Given the description of an element on the screen output the (x, y) to click on. 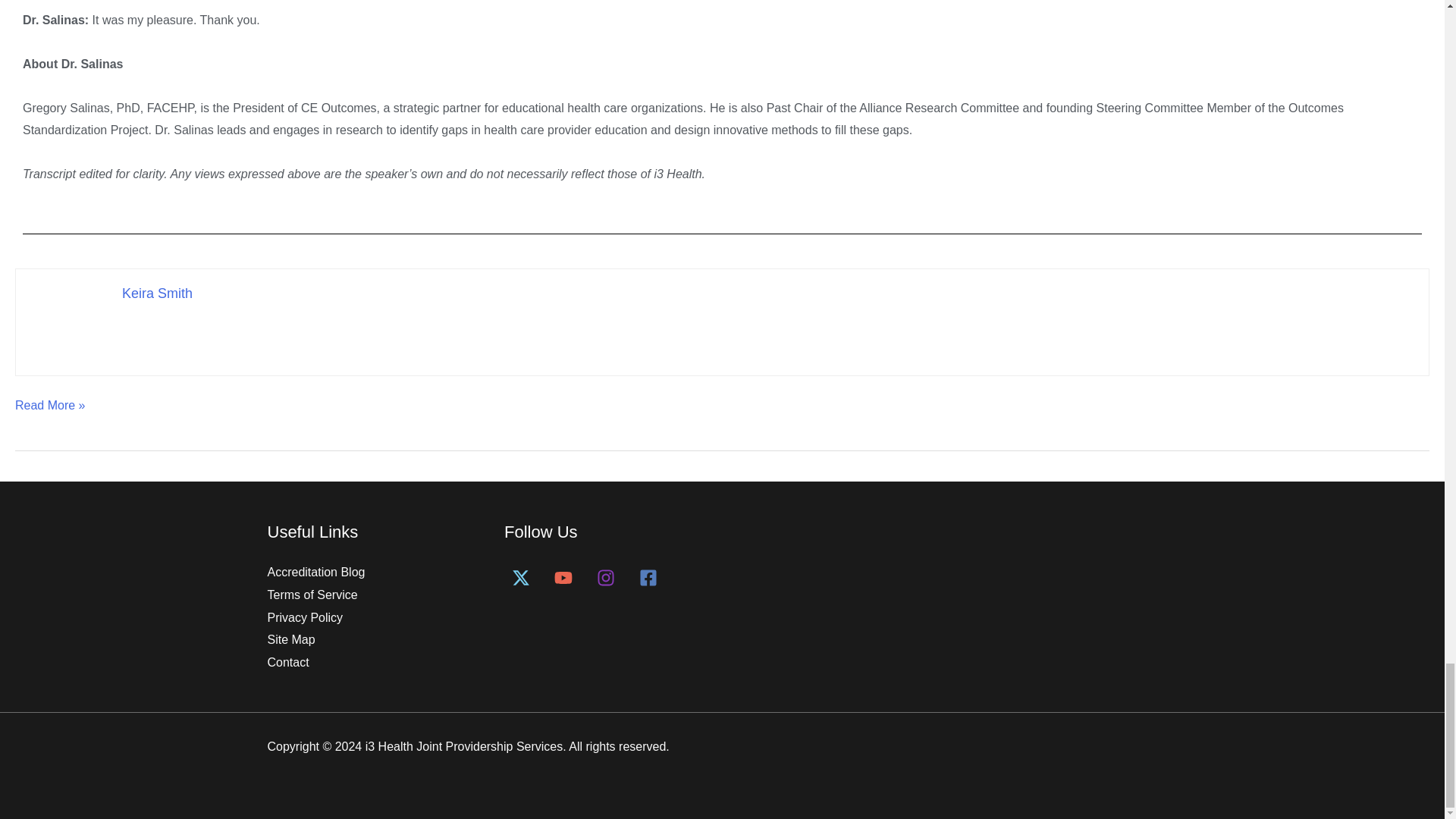
Privacy Policy (304, 617)
Contact (287, 662)
Site Map (290, 639)
Terms of Service (311, 594)
Accreditation Blog (315, 571)
Keira Smith (157, 293)
